Given the description of an element on the screen output the (x, y) to click on. 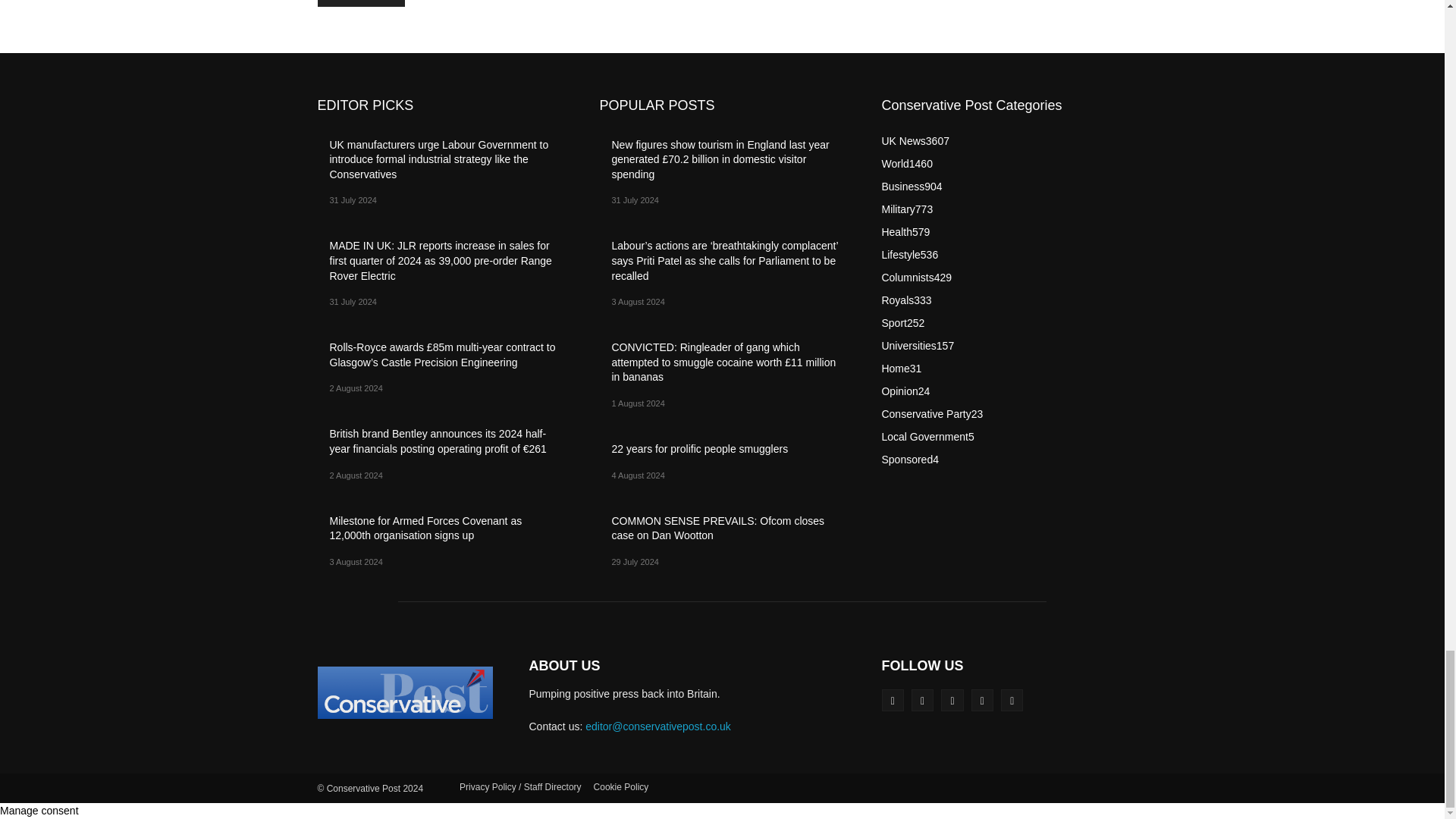
Post Comment (360, 3)
